Given the description of an element on the screen output the (x, y) to click on. 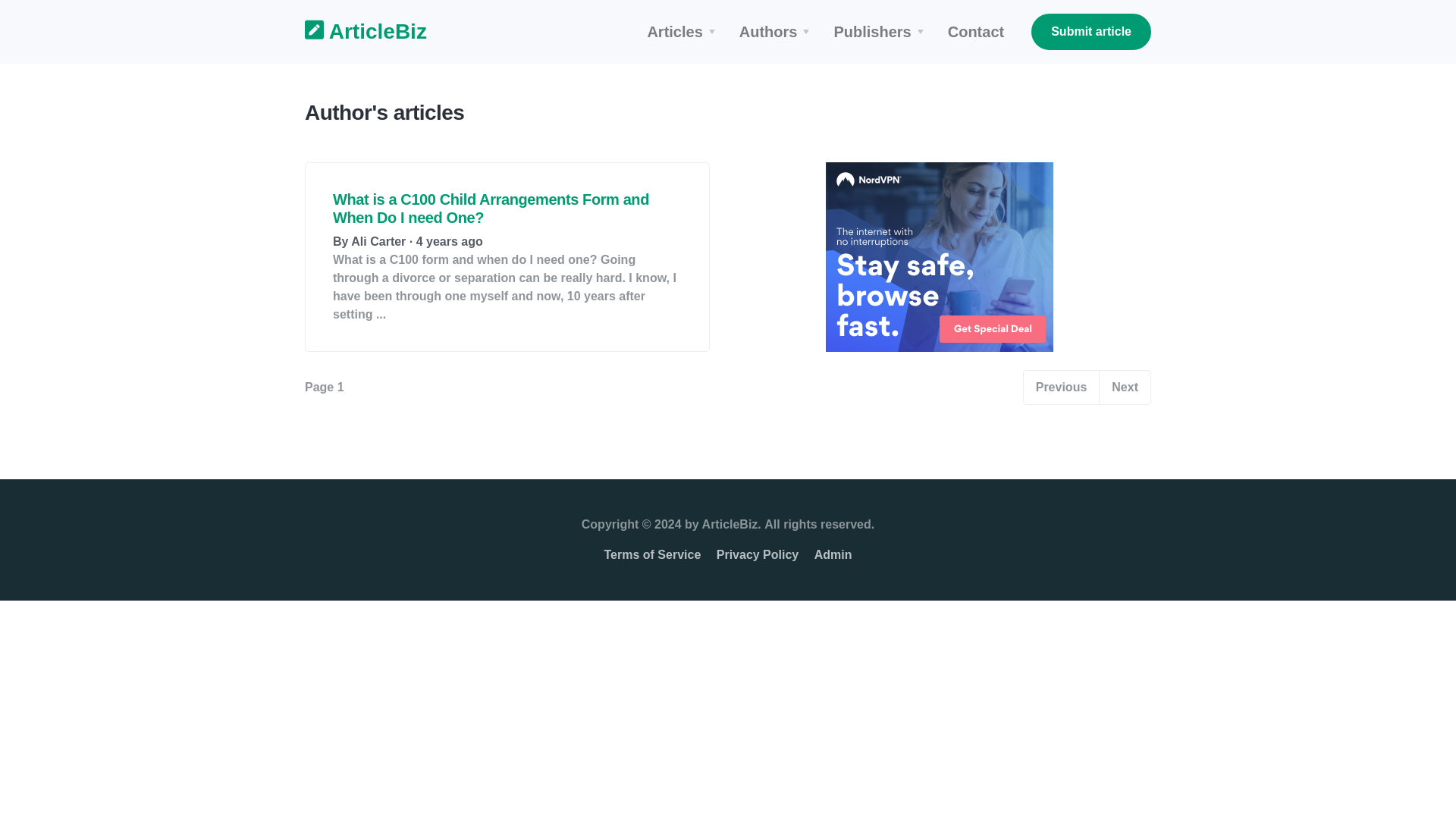
Admin (832, 554)
Terms of Service (652, 554)
Articles (683, 31)
Publishers (880, 31)
Submit article (1090, 31)
Authors (777, 31)
Privacy Policy (757, 554)
Contact (976, 31)
ArticleBiz (355, 31)
